Given the description of an element on the screen output the (x, y) to click on. 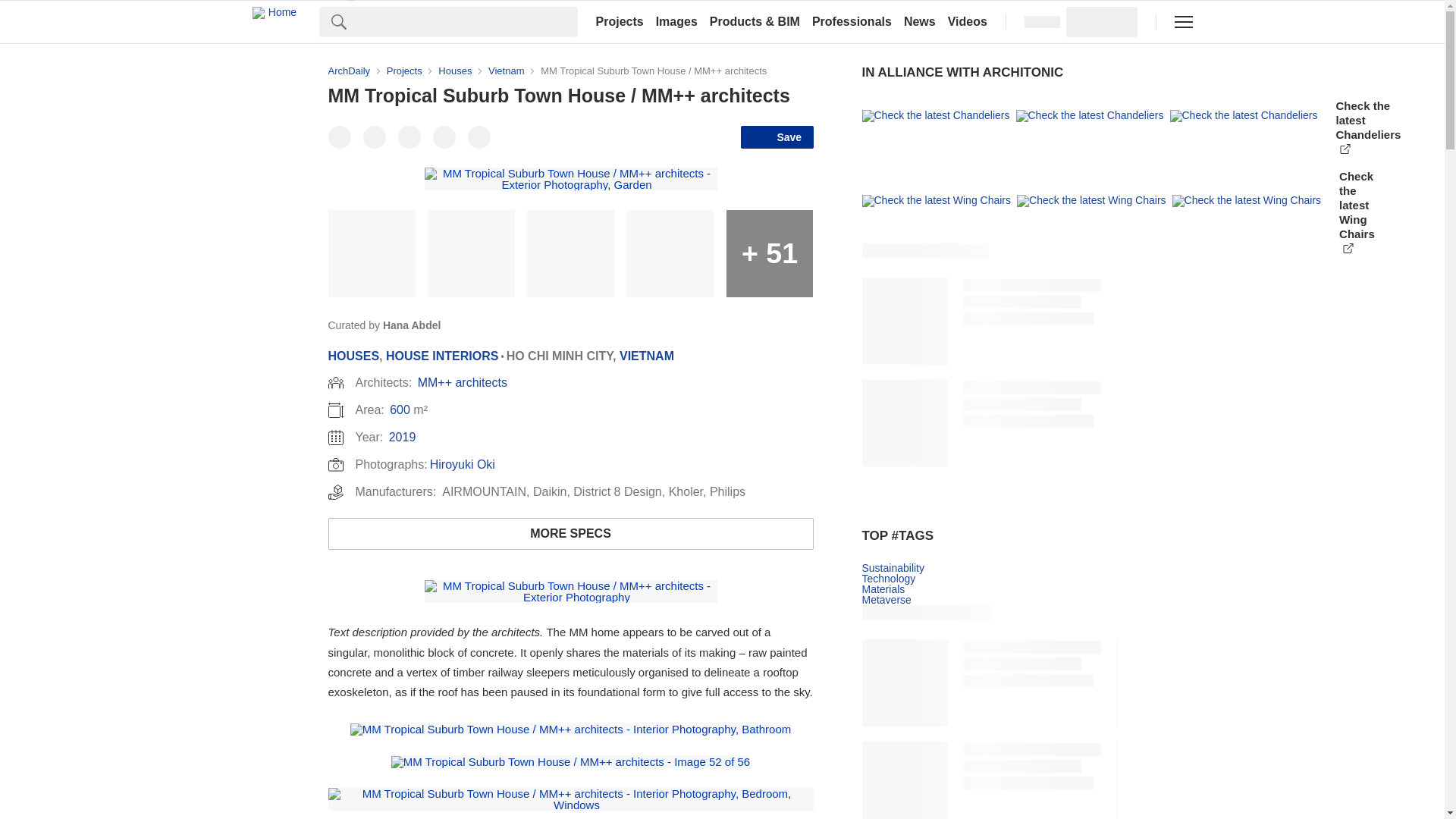
Videos (967, 21)
News (920, 21)
Images (676, 21)
Projects (619, 21)
Professionals (852, 21)
